Given the description of an element on the screen output the (x, y) to click on. 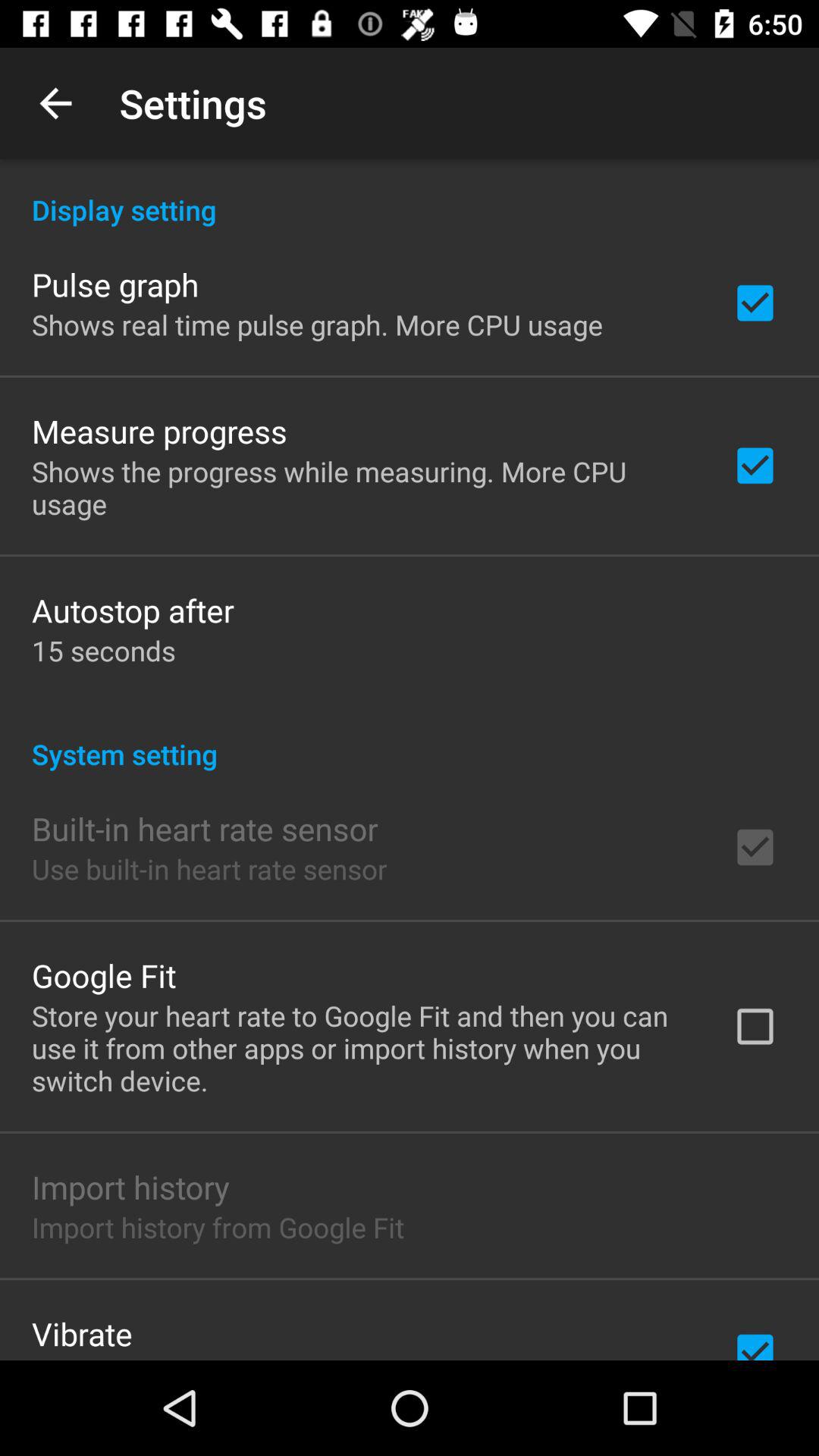
tap item below the autostop after item (103, 650)
